Given the description of an element on the screen output the (x, y) to click on. 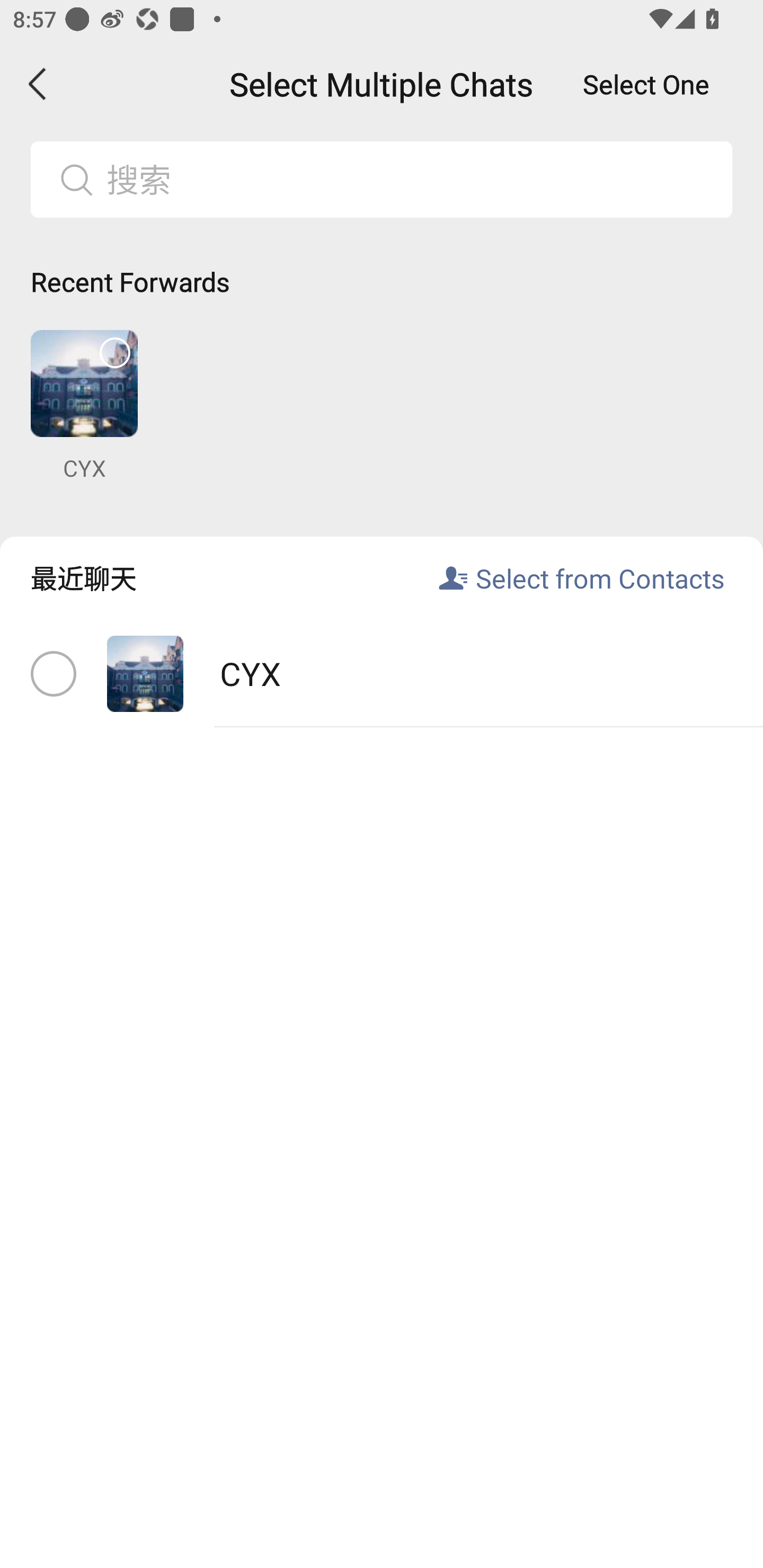
返回 (38, 83)
Select One (646, 83)
搜索 (411, 179)
CYX (84, 405)
Select from Contacts (600, 577)
CYX (381, 673)
